Given the description of an element on the screen output the (x, y) to click on. 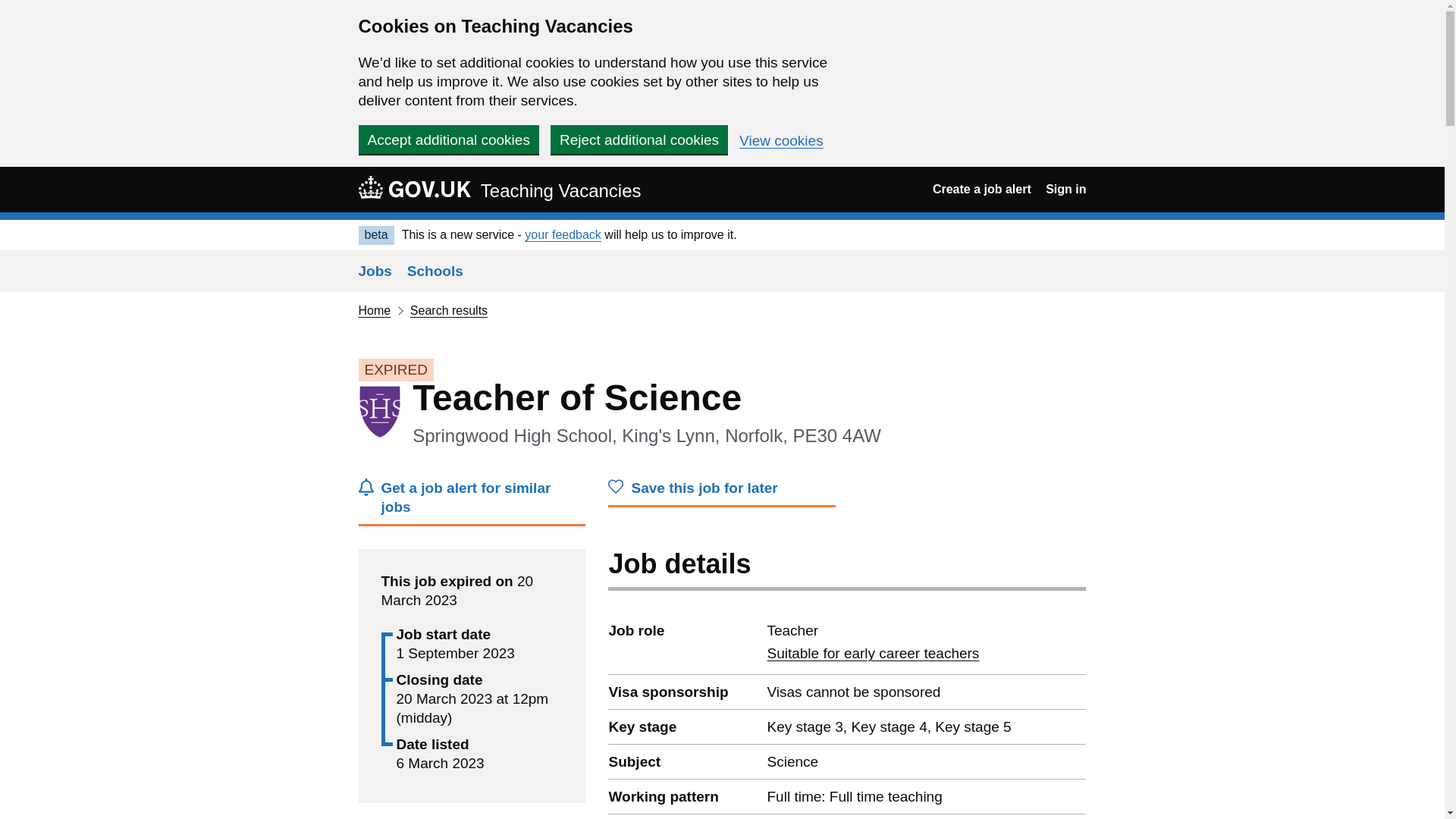
Save this job for later (721, 491)
Accept additional cookies (448, 139)
View cookies (872, 652)
GOV.UK Teaching Vacancies (781, 140)
Get a job alert for similar jobs (499, 188)
Home (471, 501)
your feedback (374, 309)
Schools (562, 234)
Sign in (435, 270)
GOV.UK (1065, 188)
Create a job alert (414, 187)
Reject additional cookies (981, 188)
Skip to main content (639, 139)
